Given the description of an element on the screen output the (x, y) to click on. 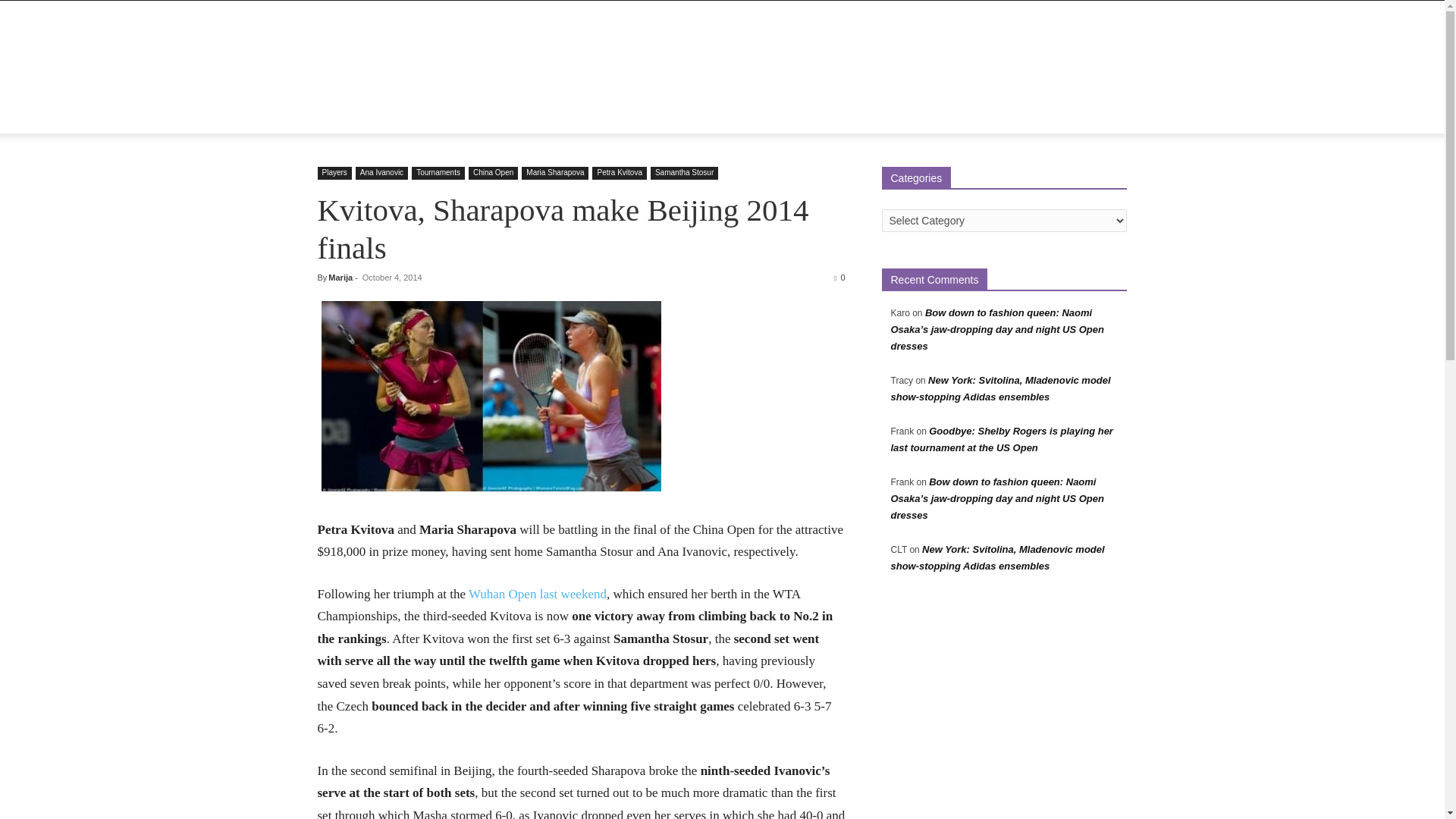
Contact Us (659, 115)
Search (1085, 175)
Featured (445, 115)
Subscribe (728, 115)
About (389, 115)
Home (341, 115)
